Given the description of an element on the screen output the (x, y) to click on. 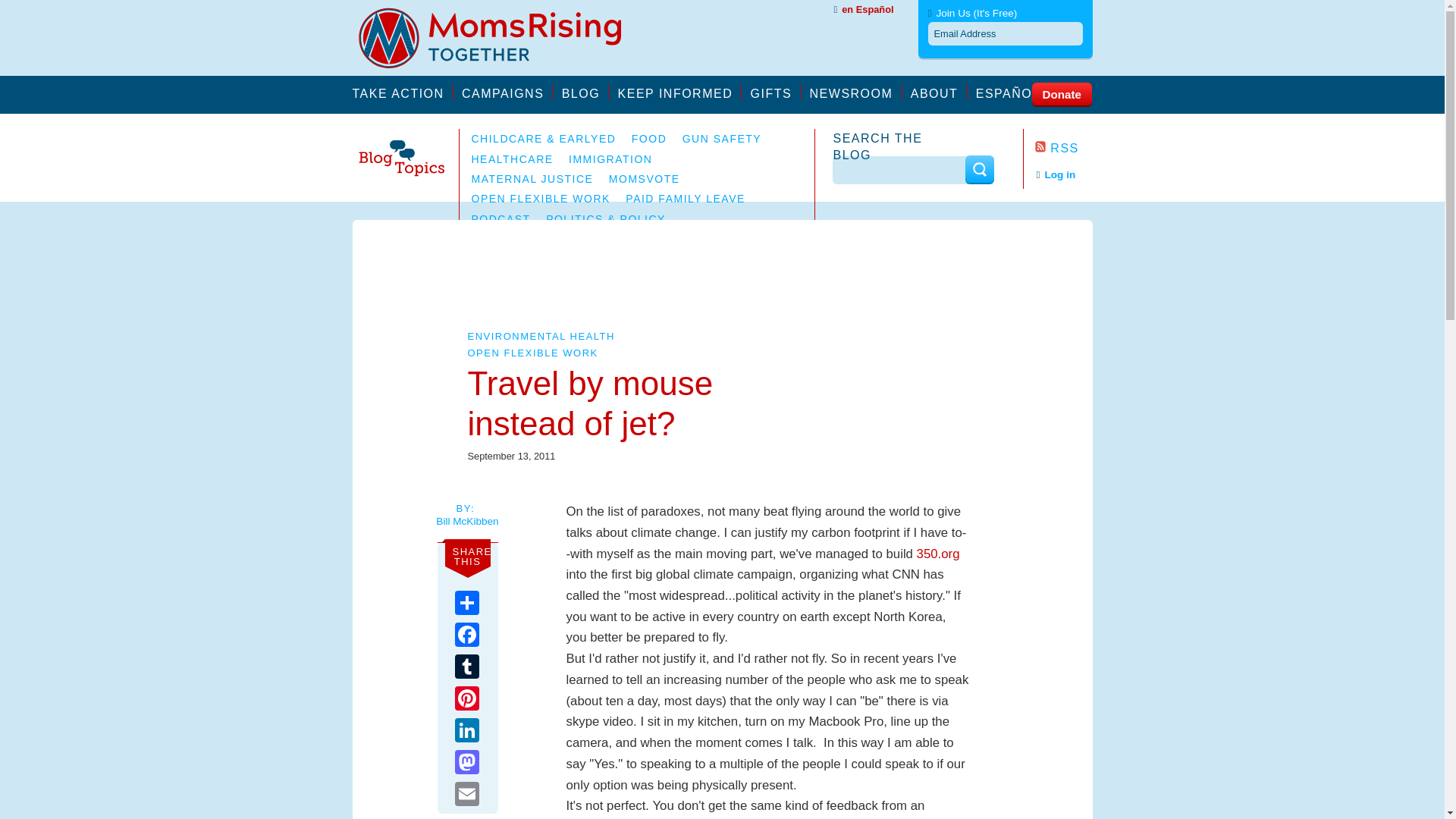
FOOD (648, 138)
Learn more about our work and get involved (507, 91)
ENVIRONMENTAL HEALTH (540, 336)
ABOUT (939, 91)
PODCAST (501, 218)
OPEN FLEXIBLE WORK (531, 353)
Sign up (1005, 188)
Donate (1060, 92)
BLOG (586, 91)
Search (978, 169)
MOMSVOTE (643, 178)
Enter the terms you wish to search for. (900, 170)
Log in (1055, 174)
